Given the description of an element on the screen output the (x, y) to click on. 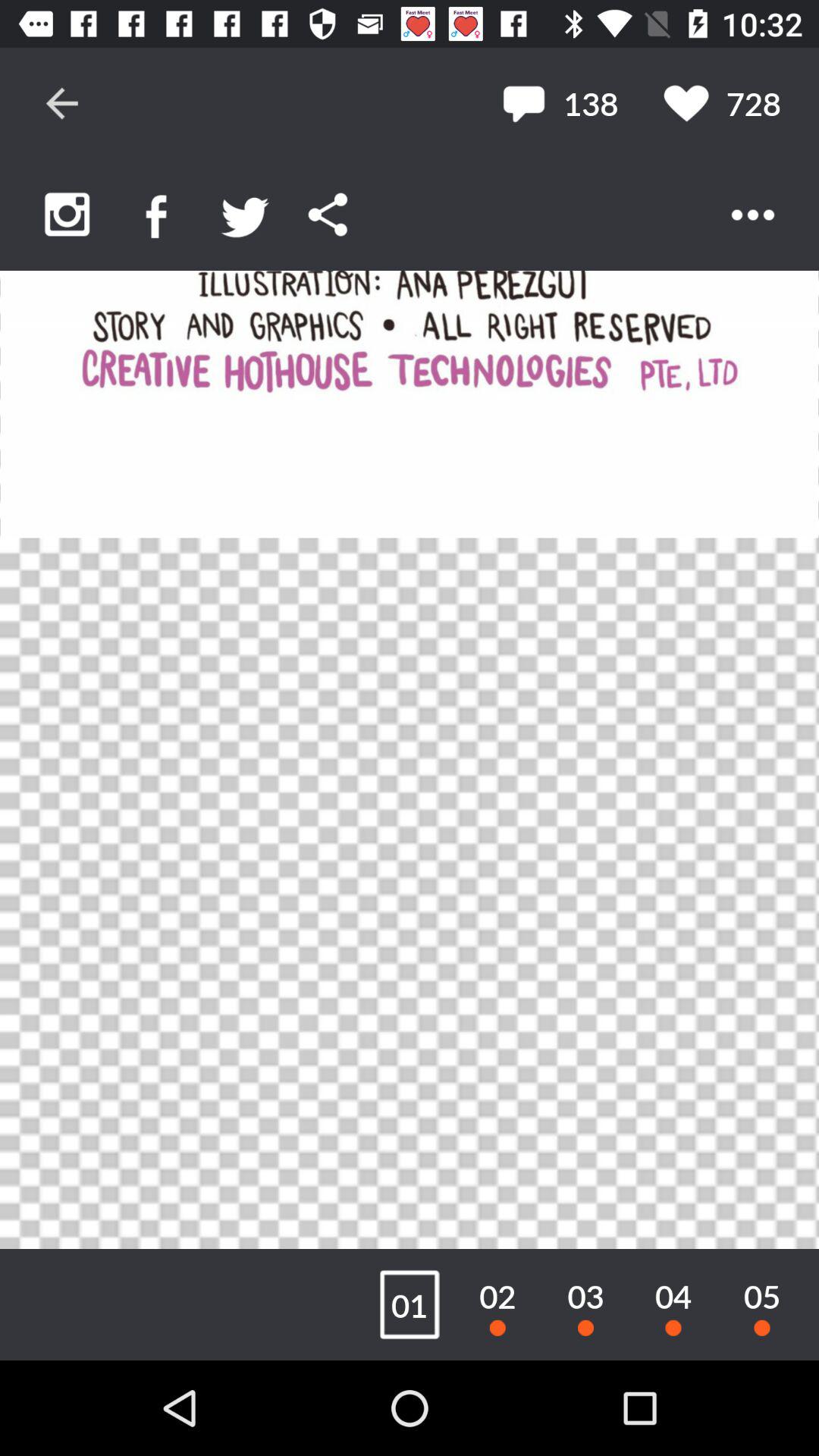
share to instagram (66, 214)
